Given the description of an element on the screen output the (x, y) to click on. 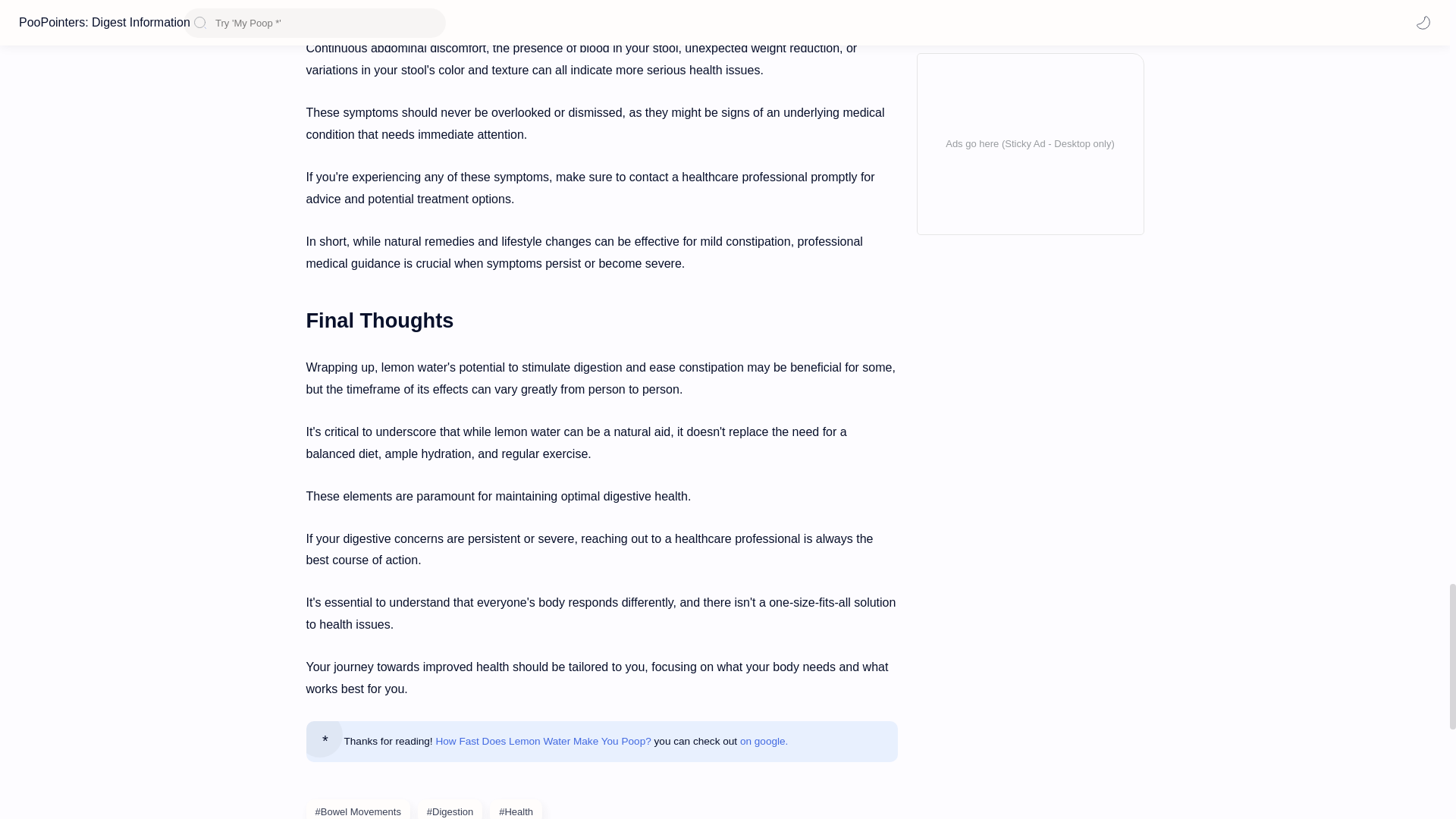
How Fast Does Lemon Water Make You Poop? (542, 740)
on google. (764, 740)
